Given the description of an element on the screen output the (x, y) to click on. 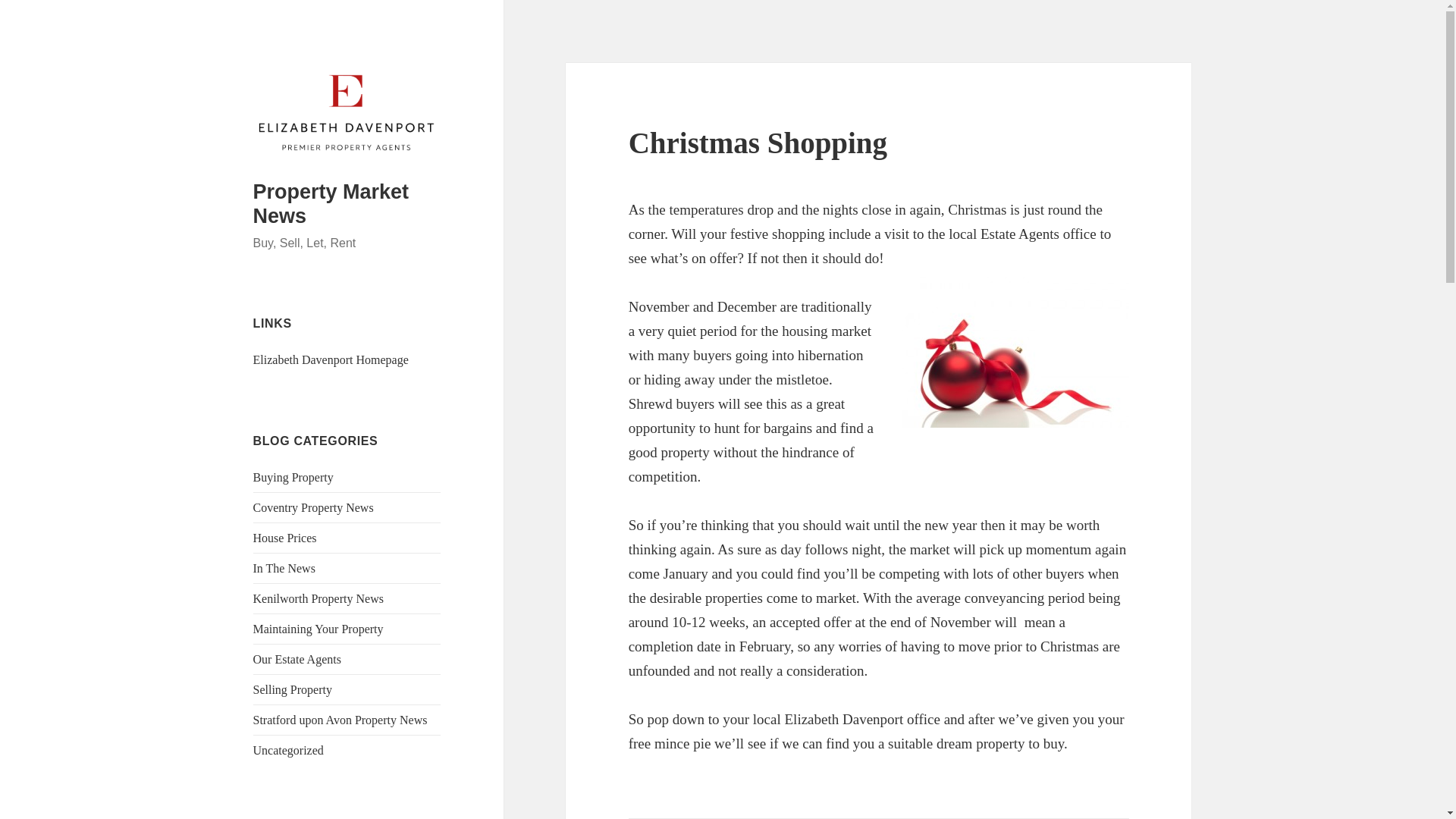
Buying Property (293, 477)
Uncategorized (288, 749)
Elizabeth Davenport Homepage (331, 359)
Maintaining Your Property (318, 628)
In The News (284, 567)
Coventry Property News (313, 507)
Property Market News (331, 203)
House Prices (285, 537)
Our Estate Agents (296, 658)
Kenilworth Property News (318, 598)
Stratford upon Avon Property News (340, 719)
Selling Property (292, 689)
